Given the description of an element on the screen output the (x, y) to click on. 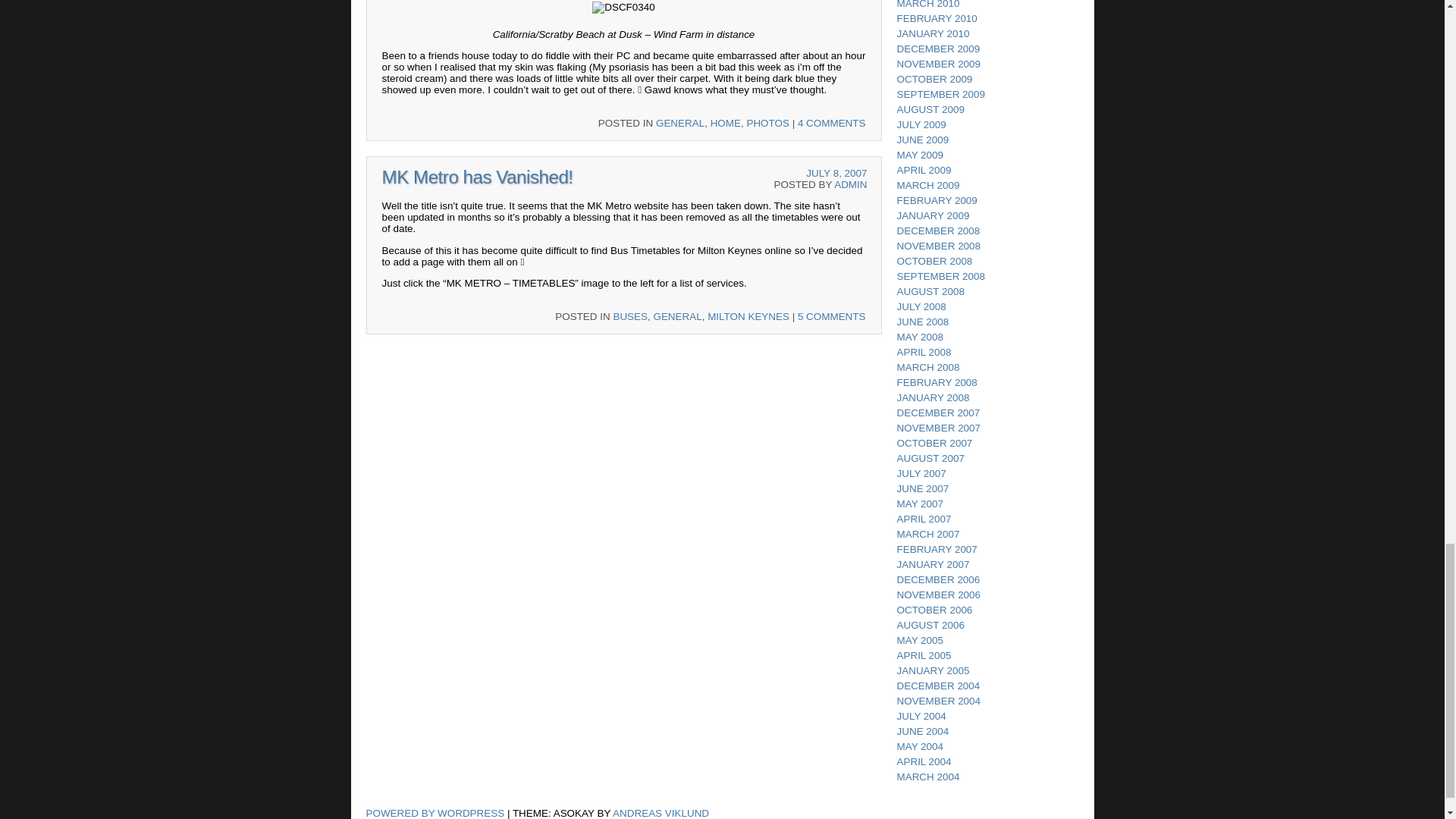
GENERAL (680, 122)
HOME (725, 122)
View all posts by admin (850, 184)
ADMIN (850, 184)
BUSES (629, 316)
Permalink to MK Metro has Vanished! (477, 177)
MK Metro has Vanished! (477, 177)
MILTON KEYNES (748, 316)
4 COMMENTS (831, 122)
JULY 8, 2007 (836, 173)
PHOTOS (767, 122)
GENERAL (676, 316)
